Given the description of an element on the screen output the (x, y) to click on. 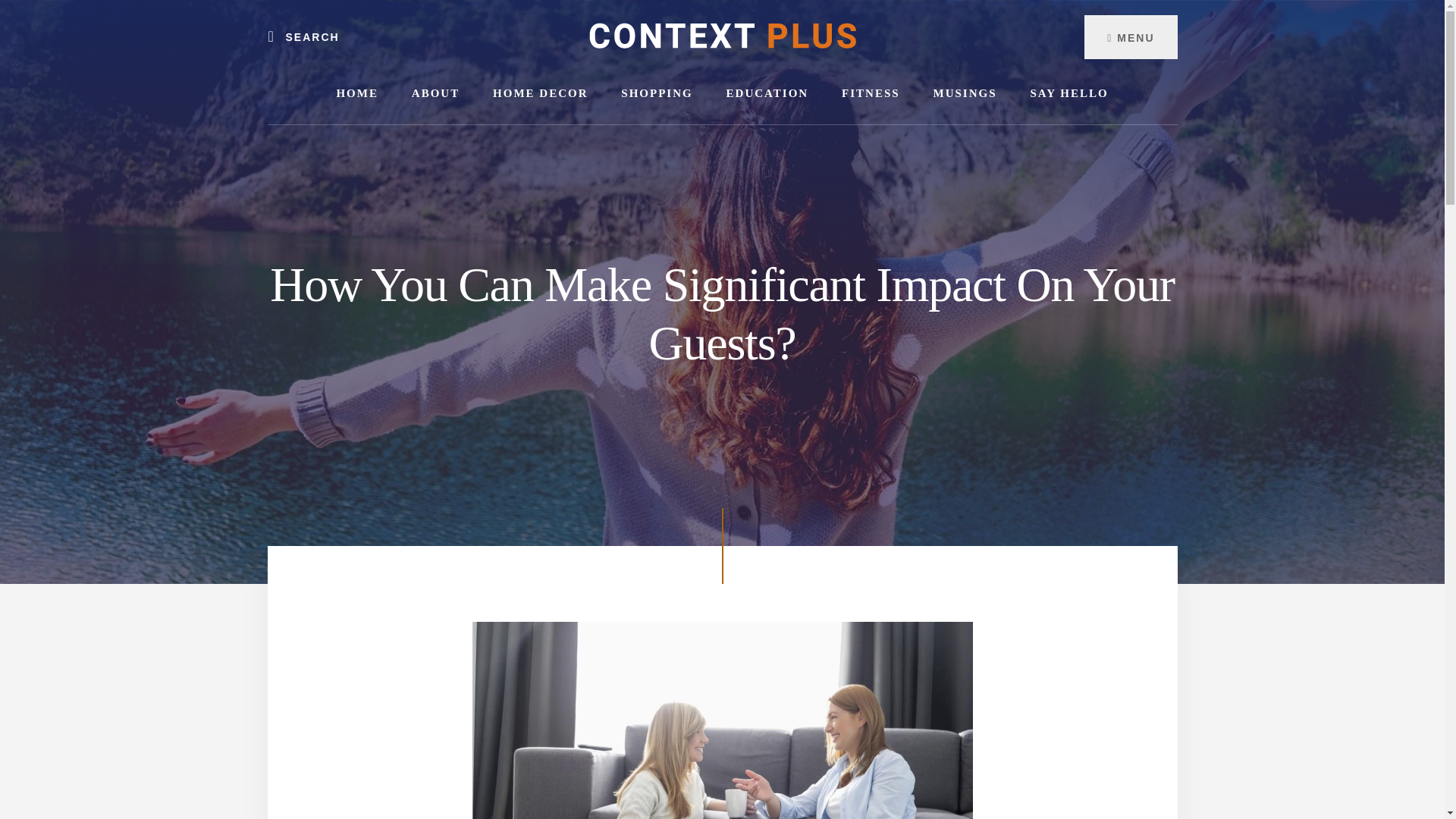
ABOUT (435, 93)
HOME (356, 93)
EDUCATION (767, 93)
MUSINGS (964, 93)
HOME DECOR (539, 93)
MENU (1130, 36)
SHOPPING (656, 93)
FITNESS (871, 93)
SAY HELLO (1068, 93)
